Given the description of an element on the screen output the (x, y) to click on. 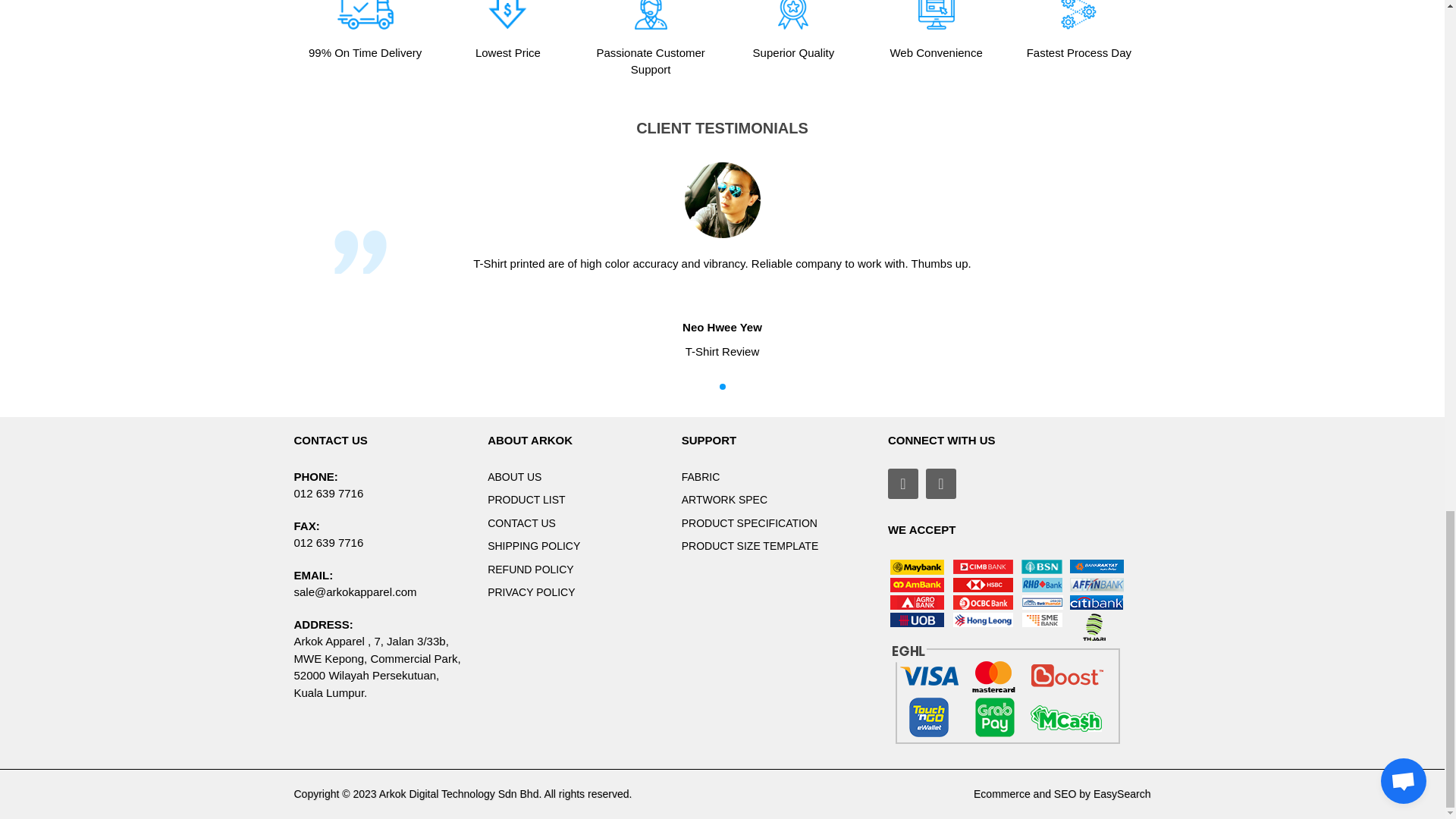
Instagram (941, 483)
Facebook (903, 483)
